Given the description of an element on the screen output the (x, y) to click on. 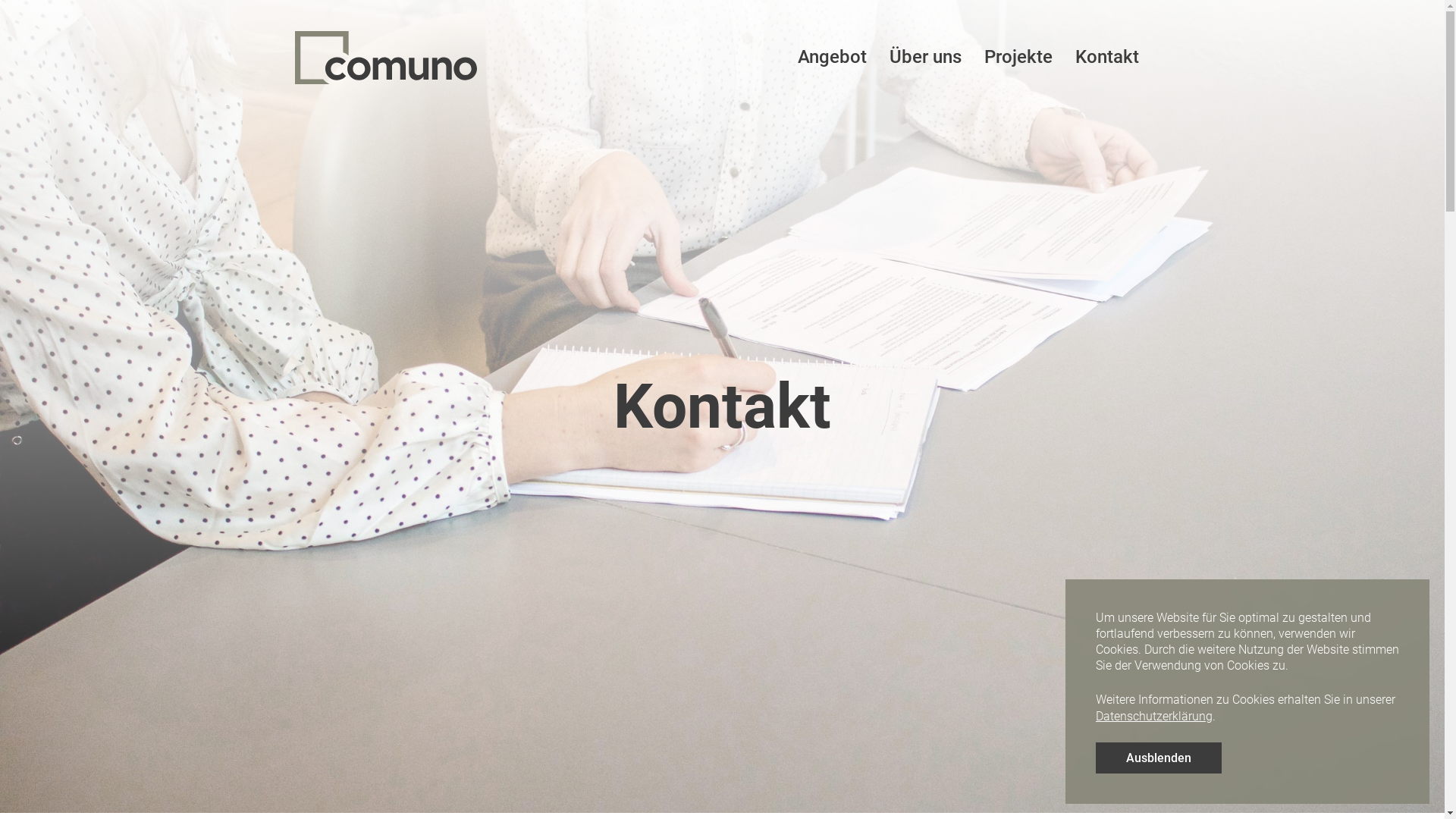
Ausblenden Element type: text (1158, 757)
Projekte Element type: text (1017, 57)
Angebot Element type: text (831, 57)
Kontakt Element type: text (1106, 57)
